Given the description of an element on the screen output the (x, y) to click on. 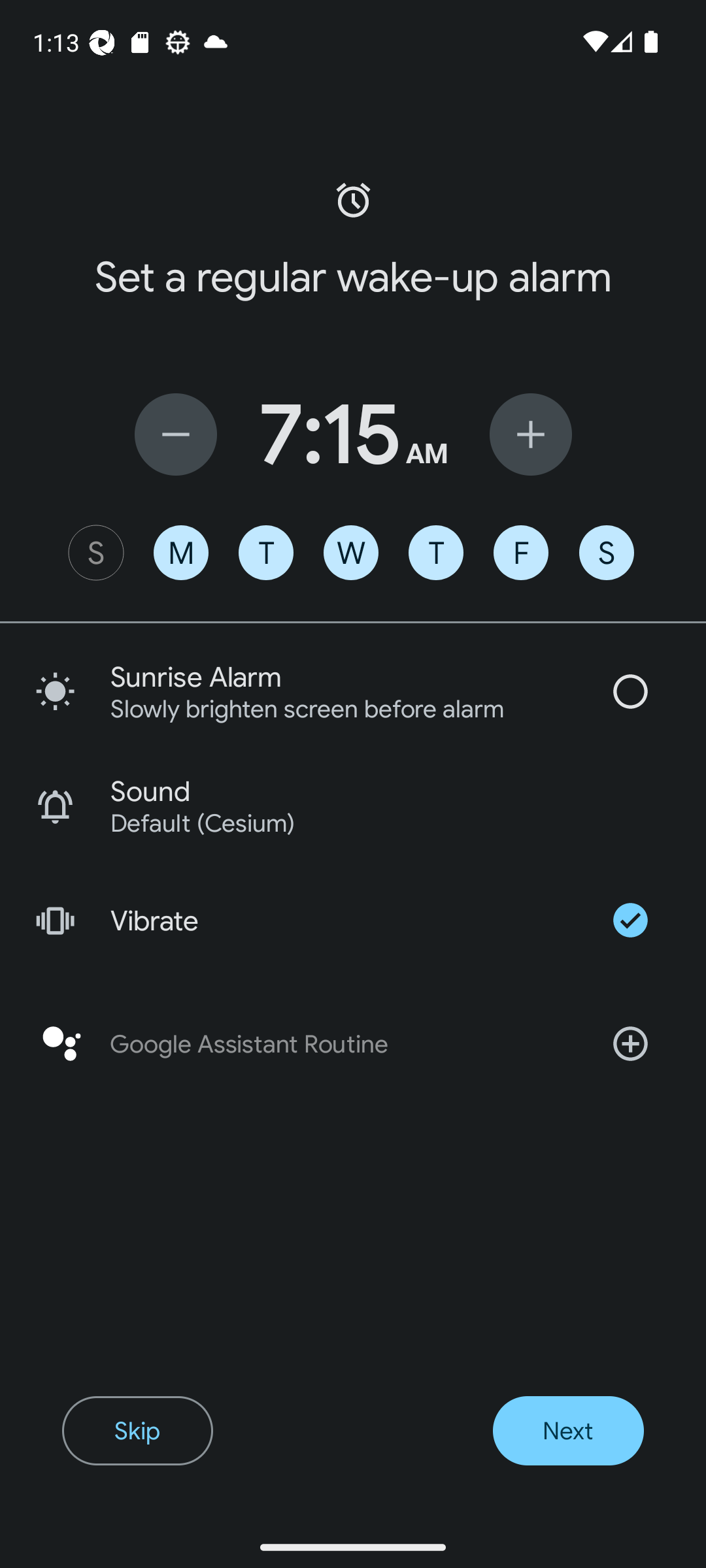
7:15 AM Wake-up 7:15 AM (353, 434)
Fifteen minutes earlier (175, 434)
Fifteen minutes later (530, 434)
S Sunday (95, 552)
M Monday (180, 552)
T Tuesday (266, 552)
W Wednesday (350, 552)
T Thursday (435, 552)
F Friday (520, 552)
S Saturday (606, 552)
Sunrise Alarm Slowly brighten screen before alarm (353, 691)
Sound Default (Cesium) Ringtone Default (Cesium) (353, 805)
Vibrate (353, 920)
Google Assistant Routine (353, 1044)
Skip (137, 1430)
Next (567, 1430)
